Given the description of an element on the screen output the (x, y) to click on. 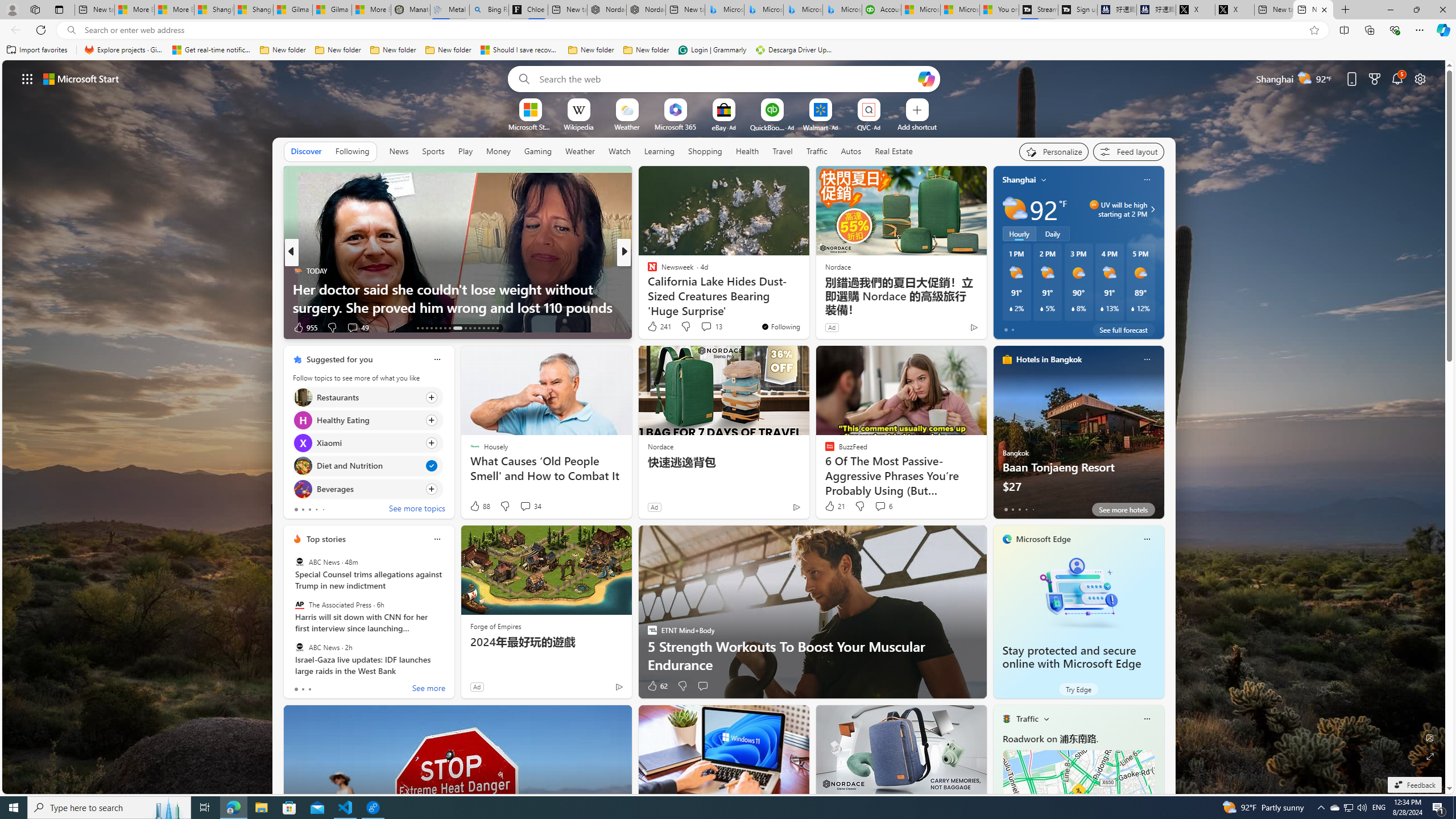
CBS News (Video) (647, 270)
Hourly (1018, 233)
Travel (782, 151)
6 Like (651, 327)
Microsoft Edge (1043, 538)
Partly sunny (1014, 208)
Microsoft Bing Travel - Shangri-La Hotel Bangkok (842, 9)
Expand background (1430, 756)
AutomationID: backgroundImagePicture (723, 426)
